Given the description of an element on the screen output the (x, y) to click on. 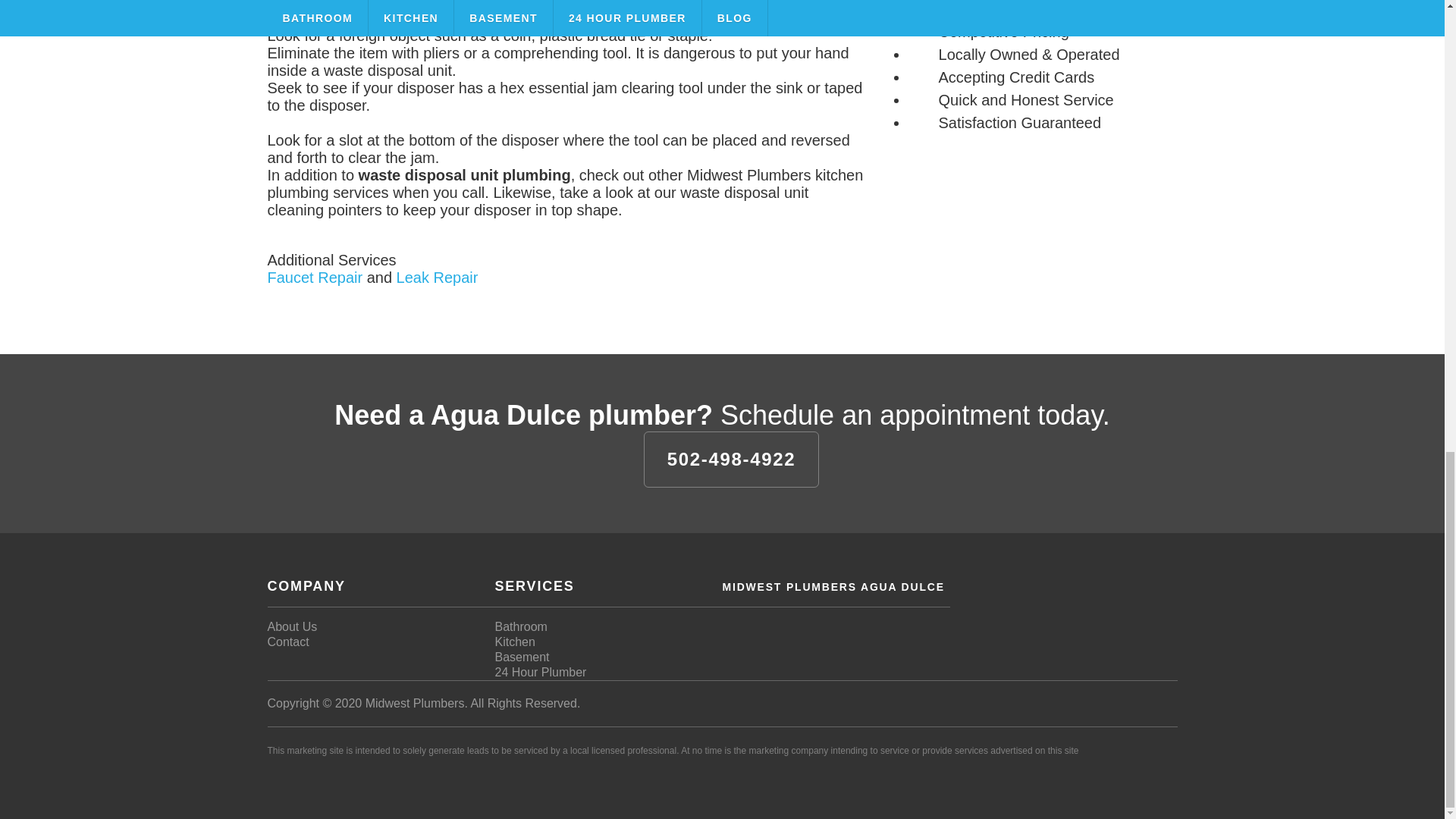
Contact (287, 641)
Basement (521, 656)
502-498-4922 (731, 459)
About Us (291, 626)
Kitchen (514, 641)
Leak Repair (437, 277)
24 Hour Plumber (540, 671)
Faucet Repair (314, 277)
Bathroom (521, 626)
